Given the description of an element on the screen output the (x, y) to click on. 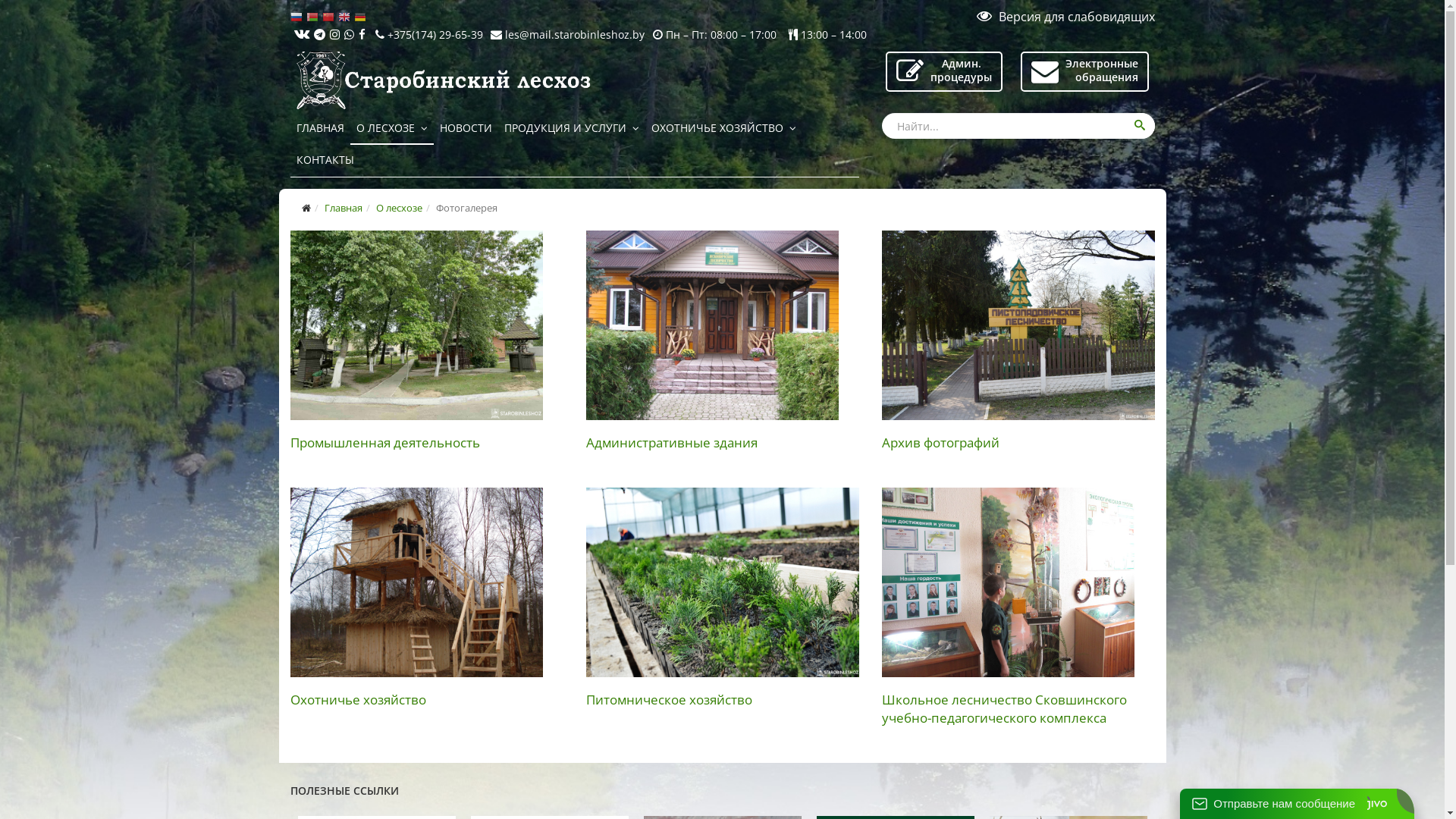
Belarusian Element type: hover (314, 16)
English Element type: hover (346, 16)
Russian Element type: hover (297, 16)
German Element type: hover (361, 16)
Chinese (Simplified) Element type: hover (329, 16)
